Given the description of an element on the screen output the (x, y) to click on. 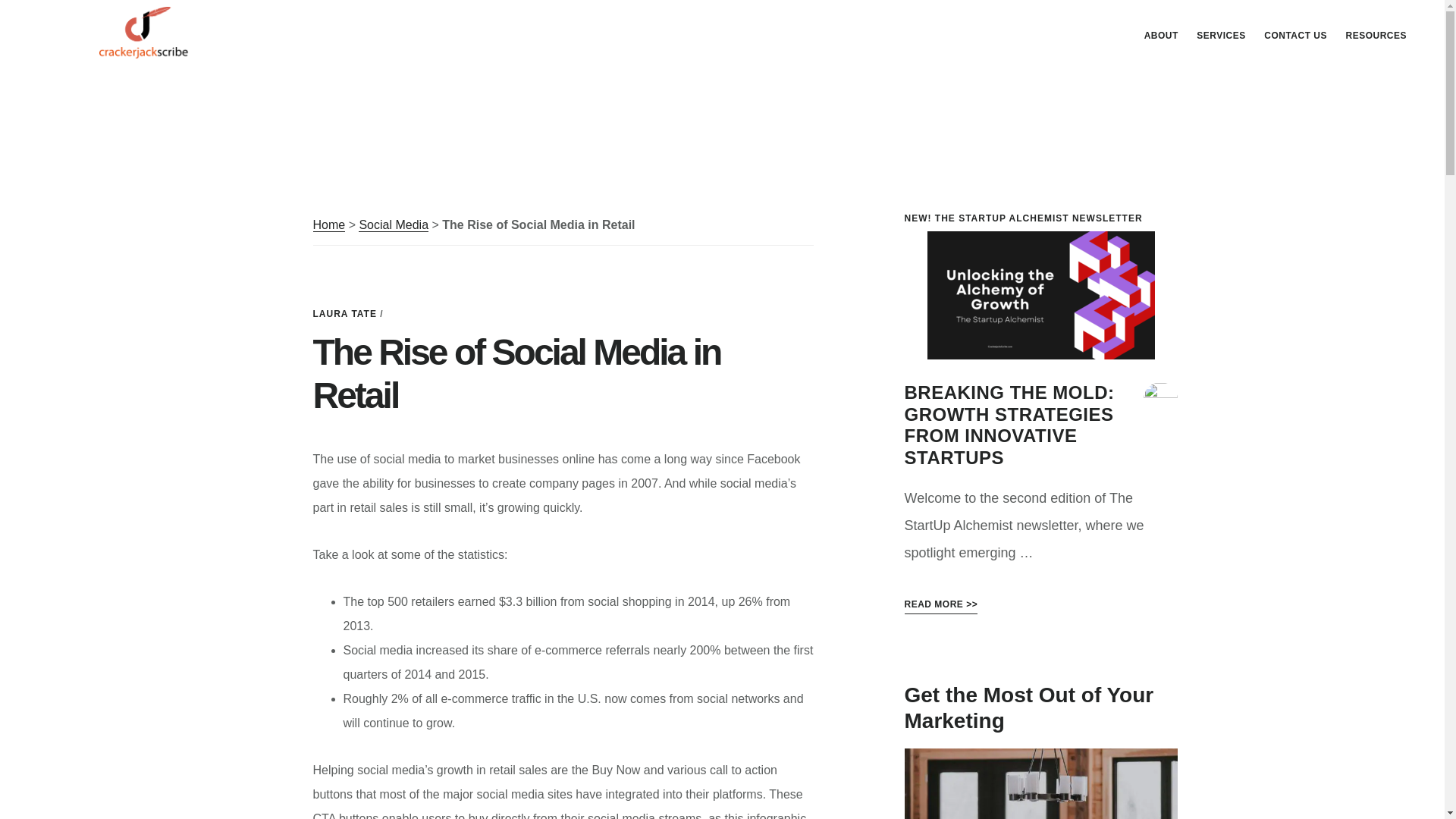
LAURA TATE (344, 312)
ABOUT (1161, 35)
Home (329, 224)
CONTACT US (1295, 35)
Social Media (393, 224)
SERVICES (1220, 35)
CRACKERJACK SCRIBE (143, 32)
RESOURCES (1375, 35)
